Given the description of an element on the screen output the (x, y) to click on. 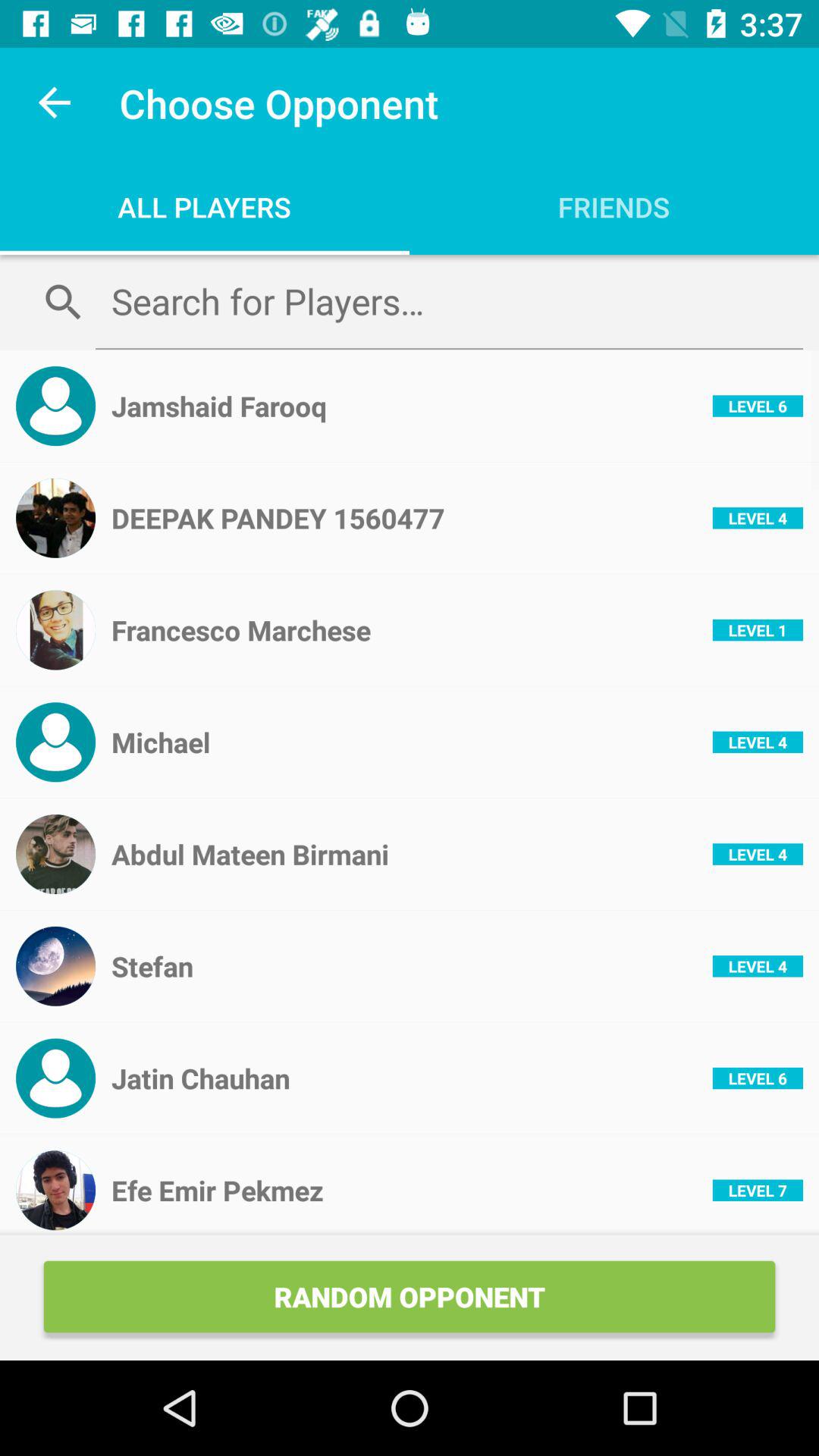
open the random opponent icon (409, 1296)
